Given the description of an element on the screen output the (x, y) to click on. 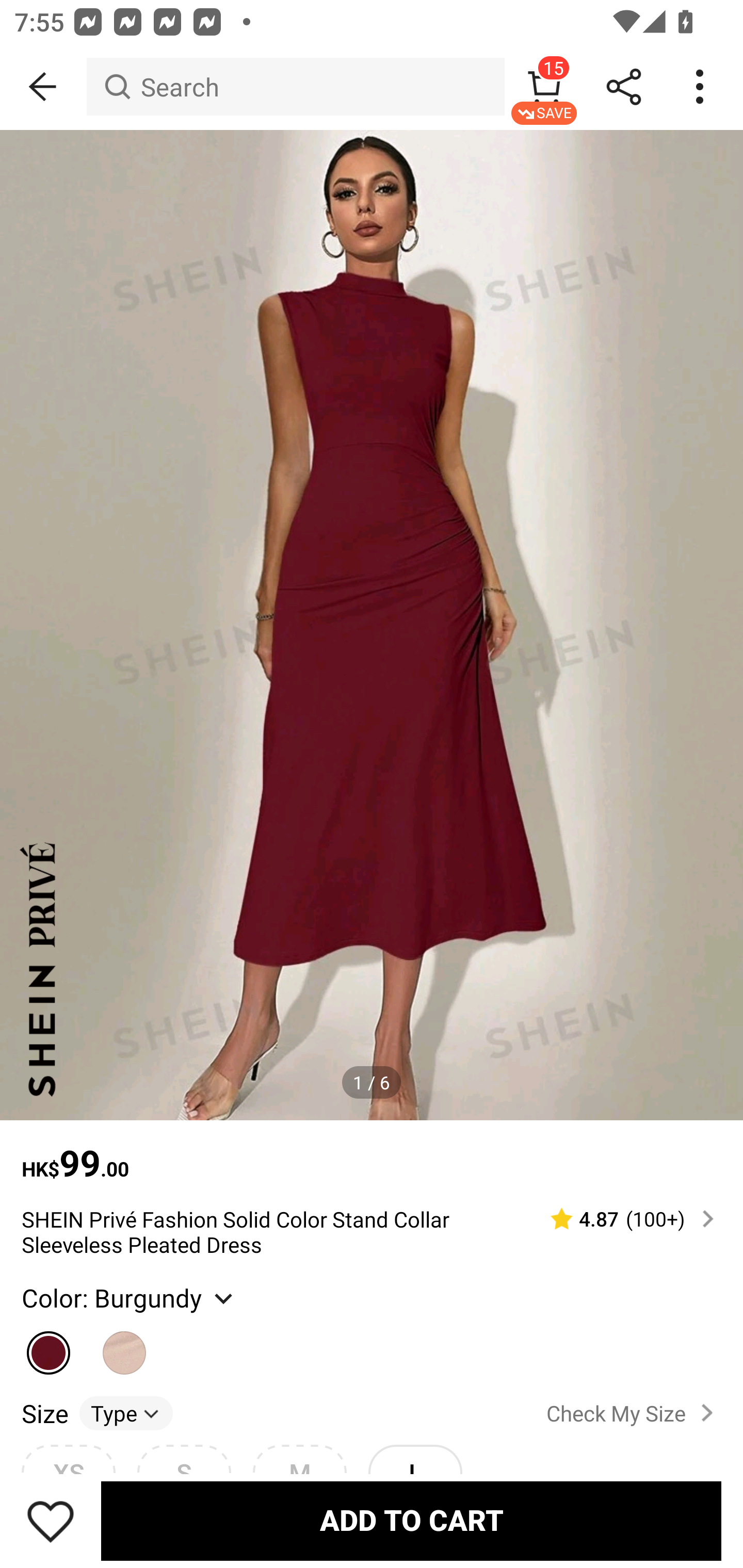
BACK (43, 86)
15 SAVE (543, 87)
Search (295, 87)
1 / 6 (371, 1082)
HK$99.00 (371, 1152)
4.87 (100‎+) (623, 1219)
Color: Burgundy (129, 1297)
Burgundy (48, 1344)
Apricot (124, 1344)
Size (44, 1412)
Type (126, 1412)
Check My Size (633, 1413)
ADD TO CART (411, 1520)
Save (50, 1520)
